Given the description of an element on the screen output the (x, y) to click on. 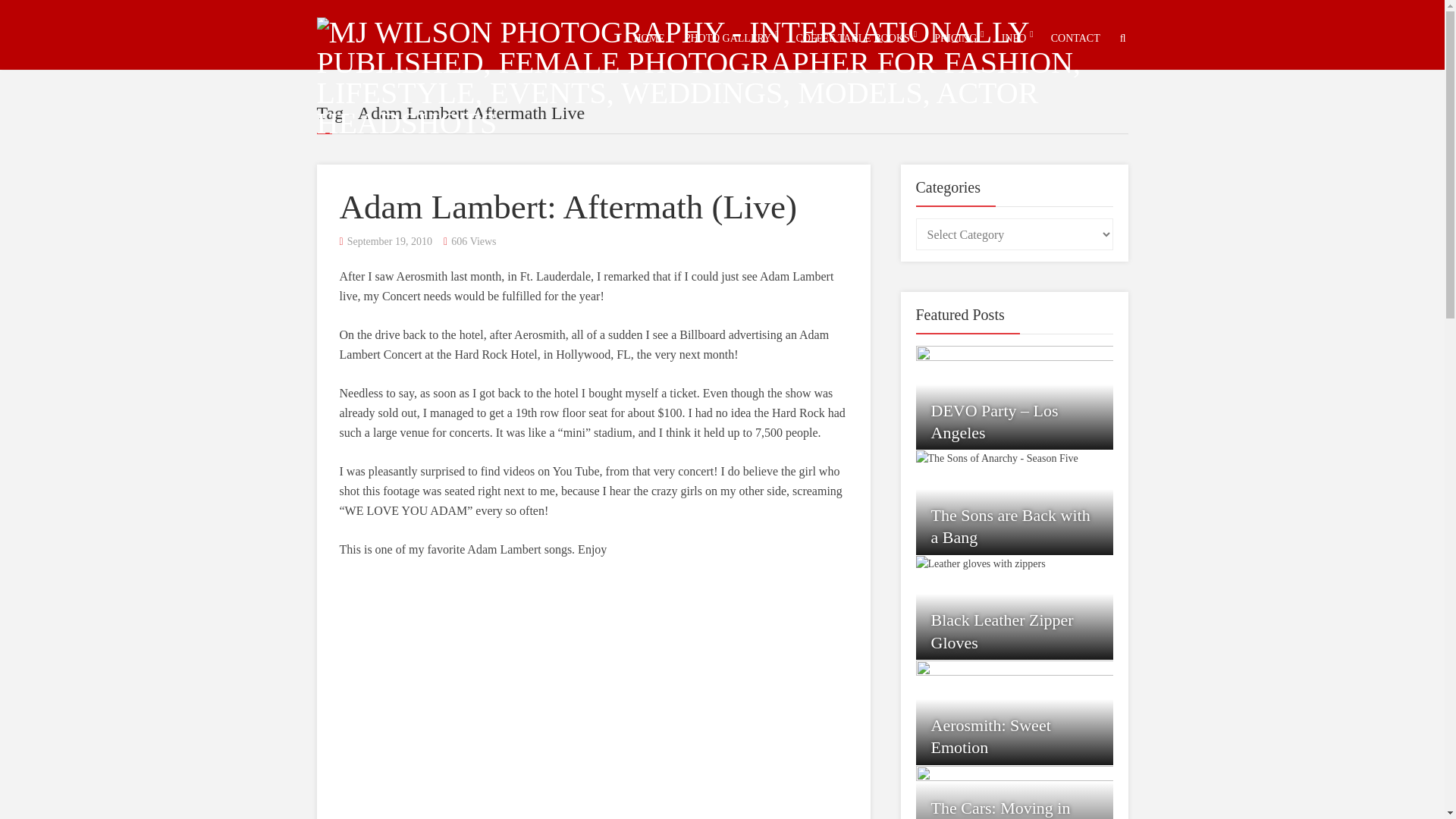
COFFEE TABLE BOOKS (852, 38)
PHOTO GALLERY (727, 38)
